Given the description of an element on the screen output the (x, y) to click on. 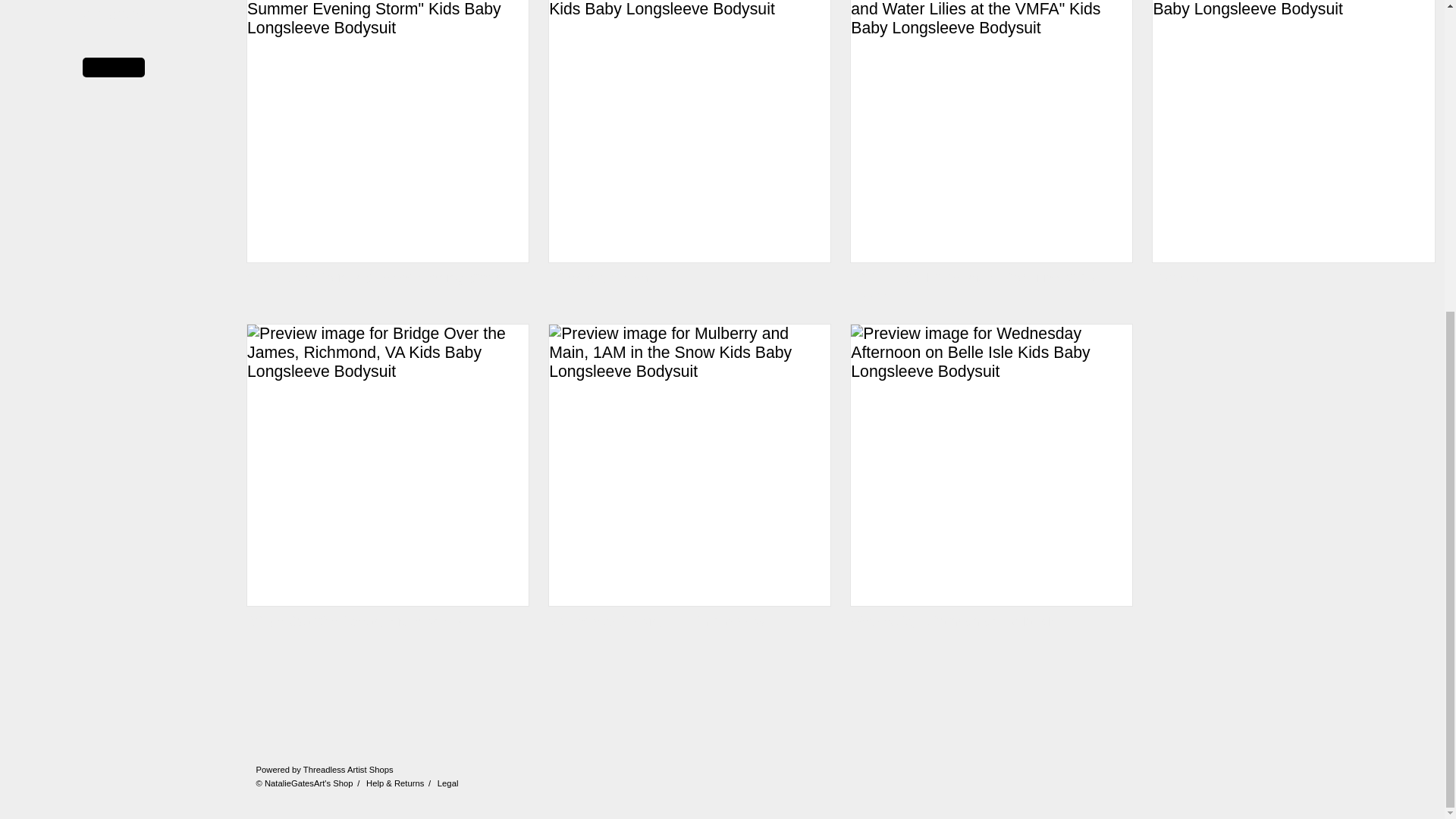
"Chihuly Sculpture and Water Lilies at the VMFA" (991, 152)
Threadless Artist Shops (347, 768)
Krispies Chicken (689, 143)
Legal (448, 782)
Buy "Bamboo Cafe in a Summer Evening Storm" (387, 143)
GIFT CARDS (113, 19)
Wednesday Afternoon on Belle Isle (991, 476)
Mulberry and Main, 1AM in the Snow (689, 476)
Bridge Over the James, Richmond, VA (387, 476)
Buy Krispies Chicken (689, 143)
Joe's Inn (1292, 143)
FOLLOW (113, 66)
"Bamboo Cafe in a Summer Evening Storm" (387, 143)
Give the gift of unlimited choice (113, 19)
